Given the description of an element on the screen output the (x, y) to click on. 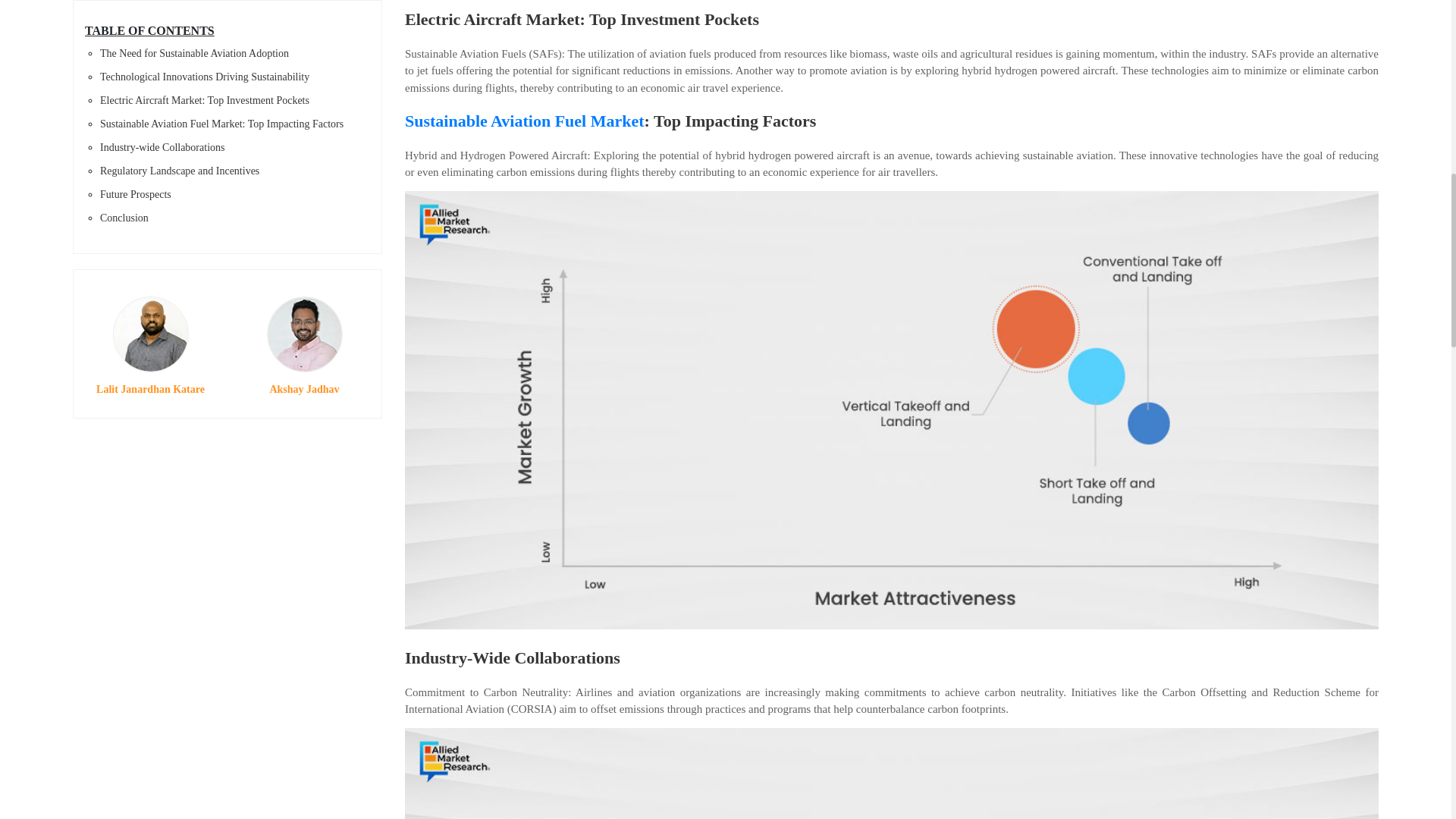
Sustainable Aviation Fuel Market (524, 120)
Sustainable Aviation Fuel Chart2 (891, 773)
